Given the description of an element on the screen output the (x, y) to click on. 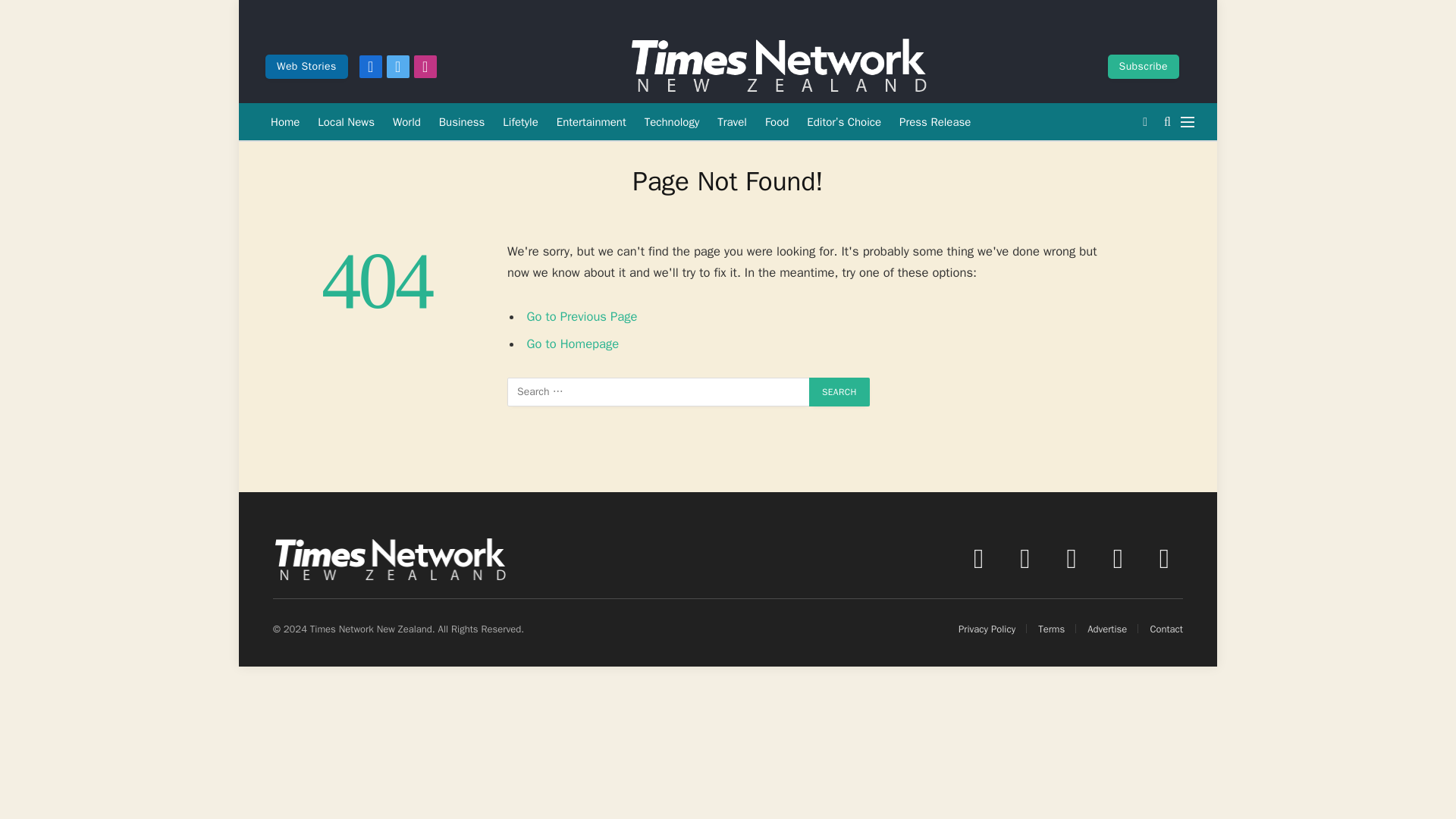
Local News (346, 121)
Entertainment (590, 121)
Business (462, 121)
Technology (671, 121)
Switch to Dark Design - easier on eyes. (1144, 121)
Lifetyle (520, 121)
Instagram (424, 66)
Times Network New Zealand (778, 66)
Food (776, 121)
Home (285, 121)
Facebook (370, 66)
Search (839, 391)
World (406, 121)
Travel (731, 121)
Search (839, 391)
